Given the description of an element on the screen output the (x, y) to click on. 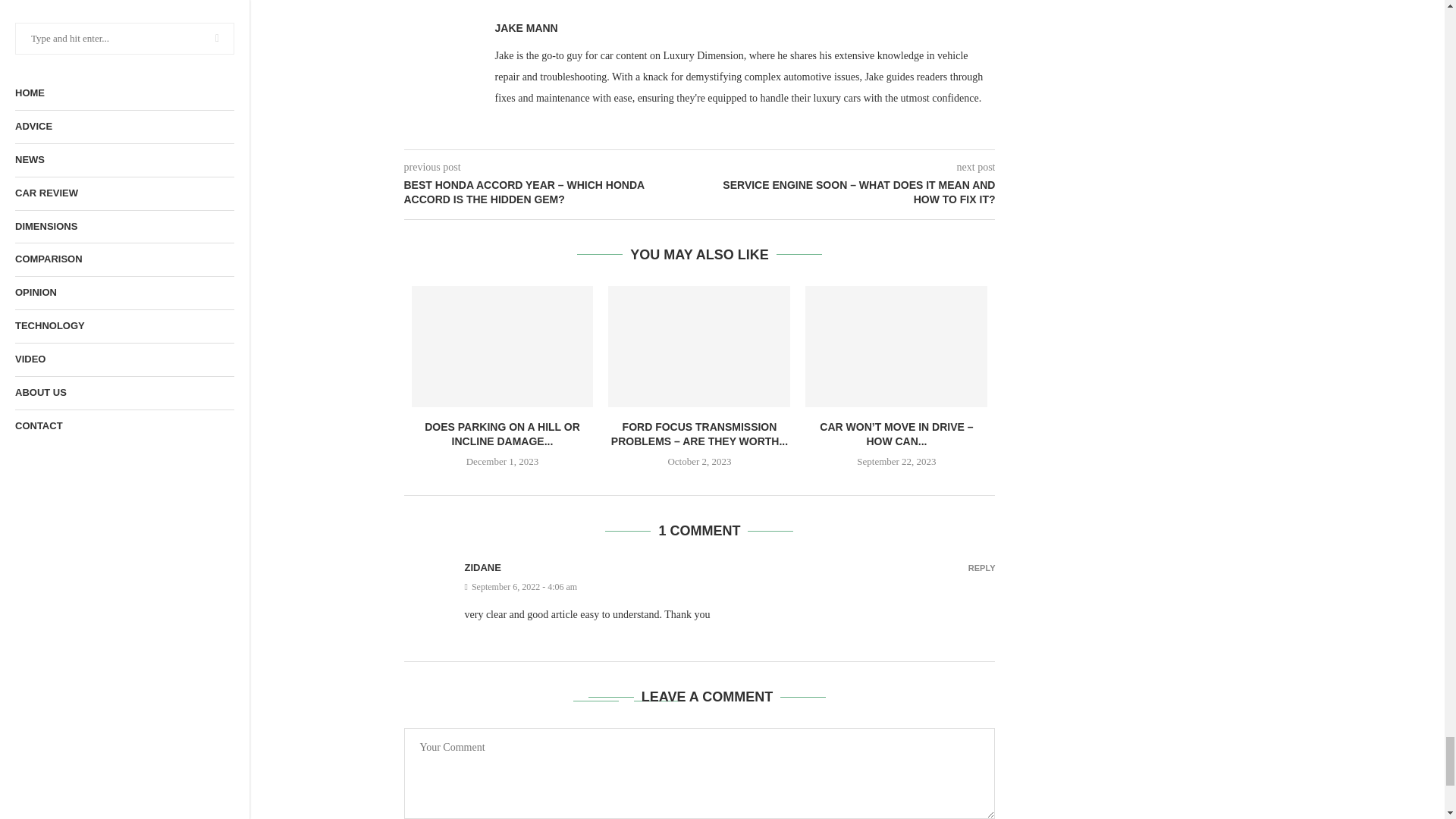
Author Jake Mann (526, 28)
